Given the description of an element on the screen output the (x, y) to click on. 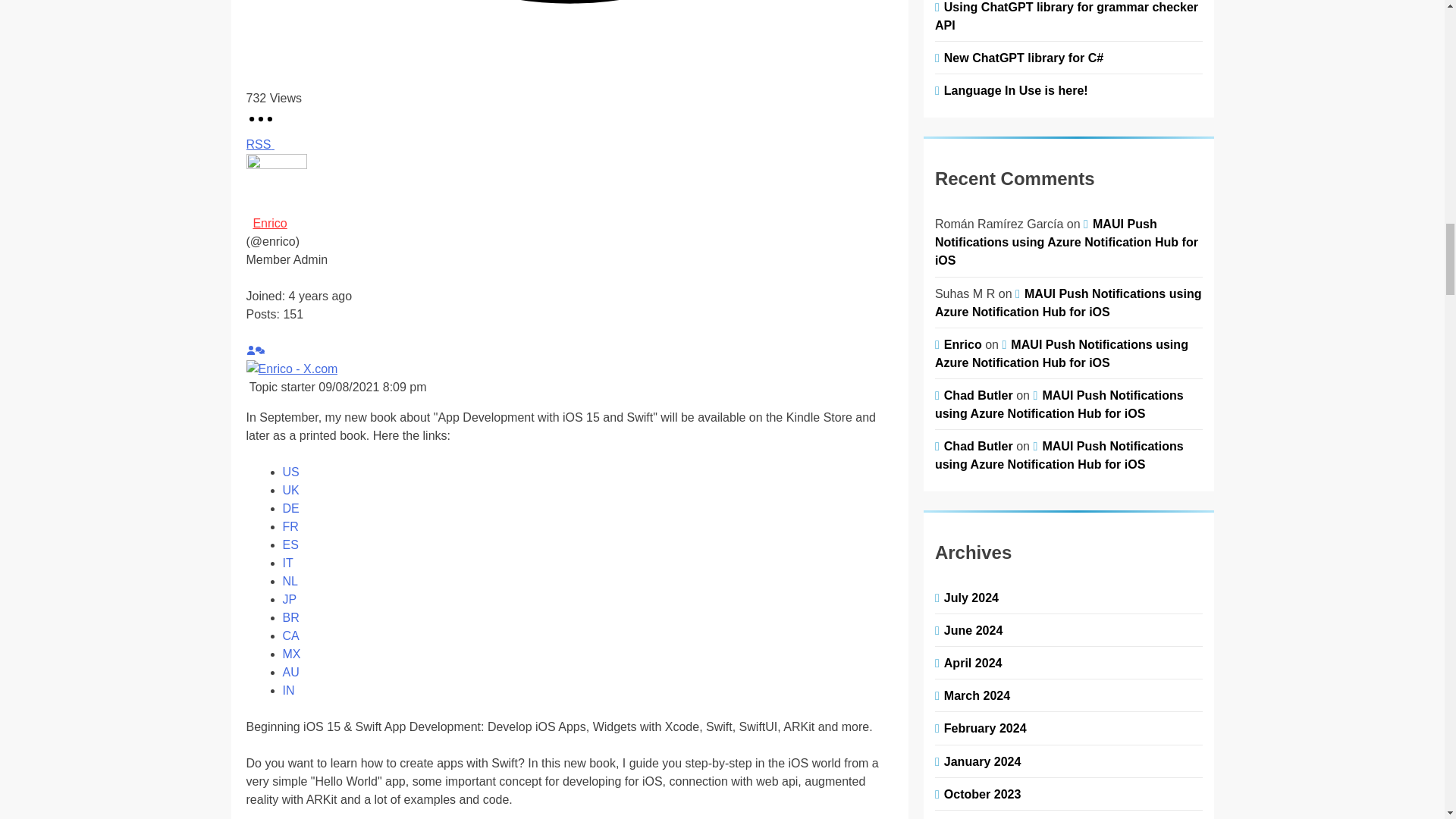
User Title (267, 259)
Enrico - X.com (291, 369)
Enrico - X.com (291, 368)
Member Rating Badge (569, 278)
Usergroup (310, 259)
Topic RSS Feed (259, 144)
Enrico (268, 223)
Enrico (268, 223)
More (569, 332)
Profile (250, 350)
Activity (258, 350)
RSS (259, 144)
